Given the description of an element on the screen output the (x, y) to click on. 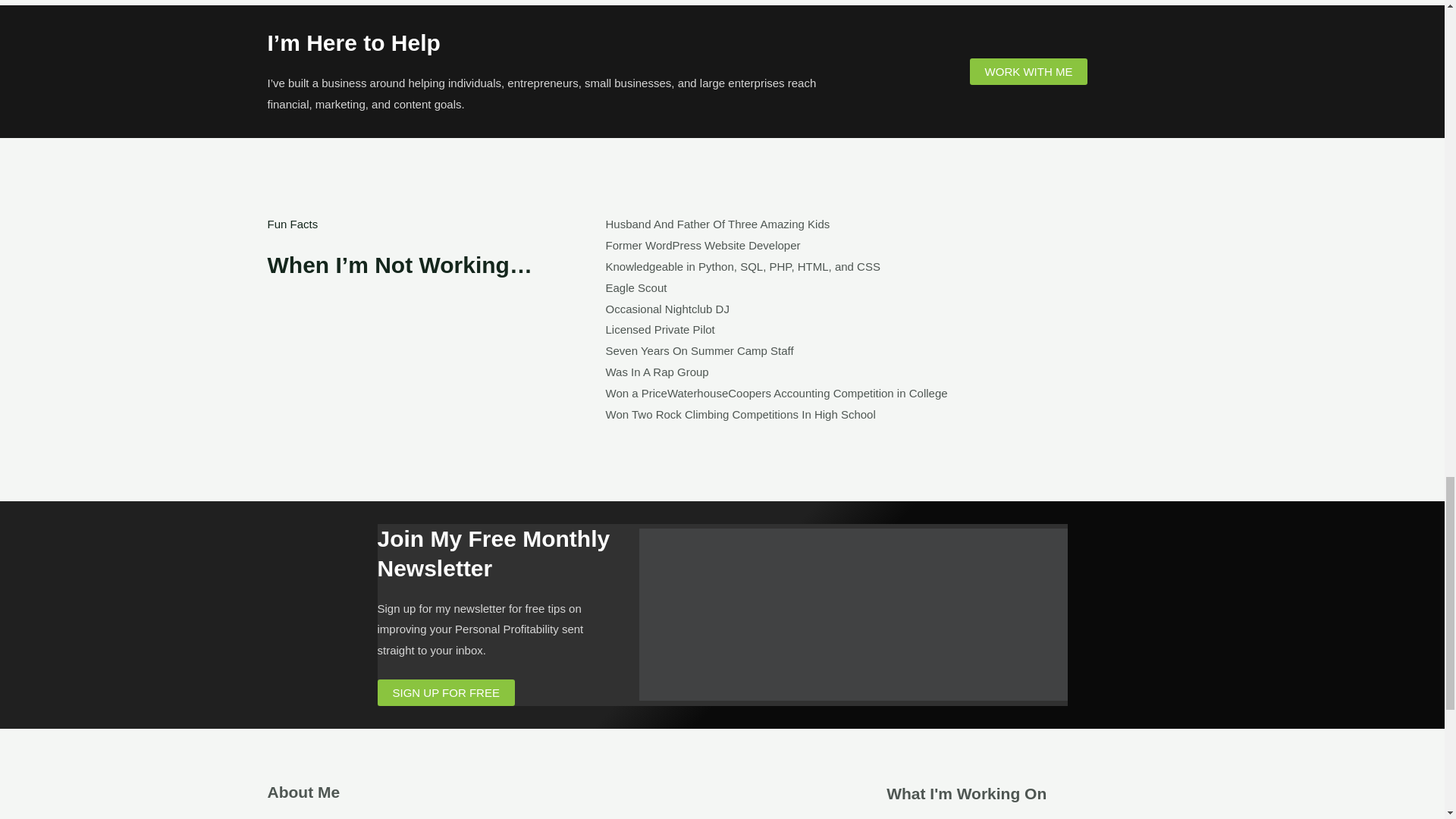
SIGN UP FOR FREE (446, 692)
WORK WITH ME (1028, 71)
